Given the description of an element on the screen output the (x, y) to click on. 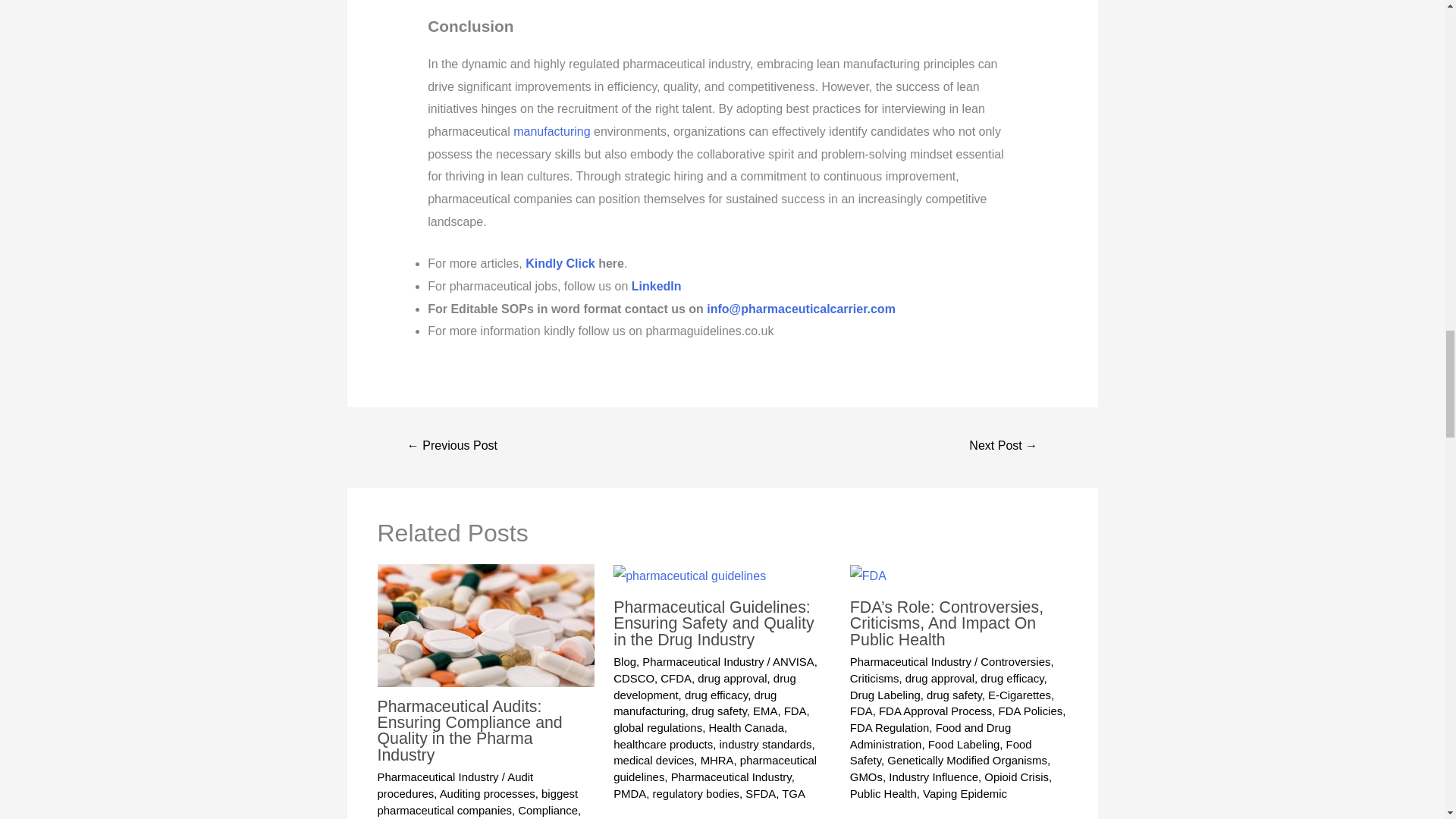
manufacturing (551, 131)
Pharmaceutical Industry (438, 776)
LinkedIn (656, 286)
Auditing processes (487, 793)
biggest pharmaceutical companies (477, 801)
Kindly Click (560, 263)
Compliance (548, 809)
